Given the description of an element on the screen output the (x, y) to click on. 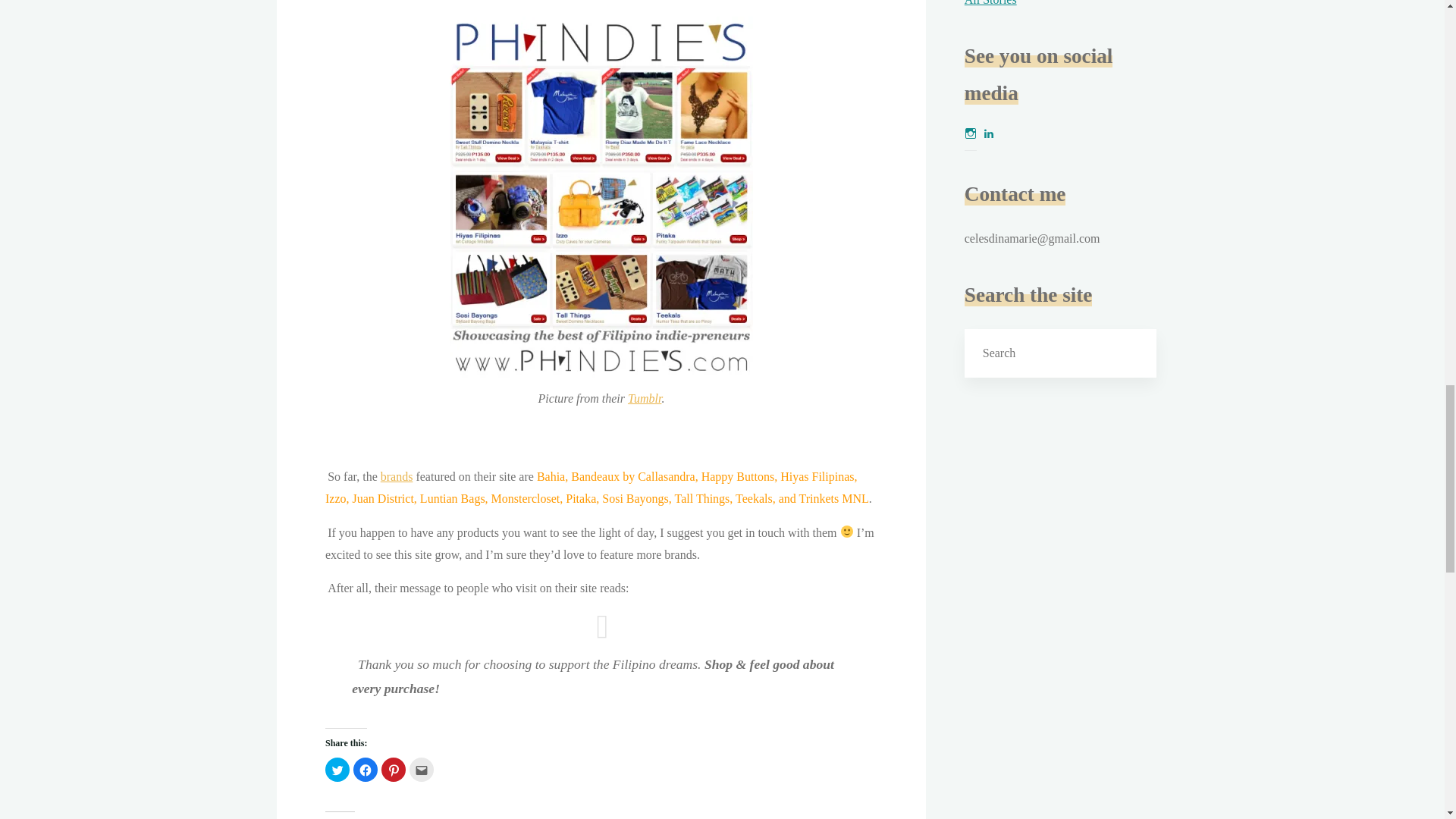
Click to share on Twitter (336, 769)
Click to share on Facebook (365, 769)
Click to email this to a friend (421, 769)
Click to share on Pinterest (392, 769)
